Given the description of an element on the screen output the (x, y) to click on. 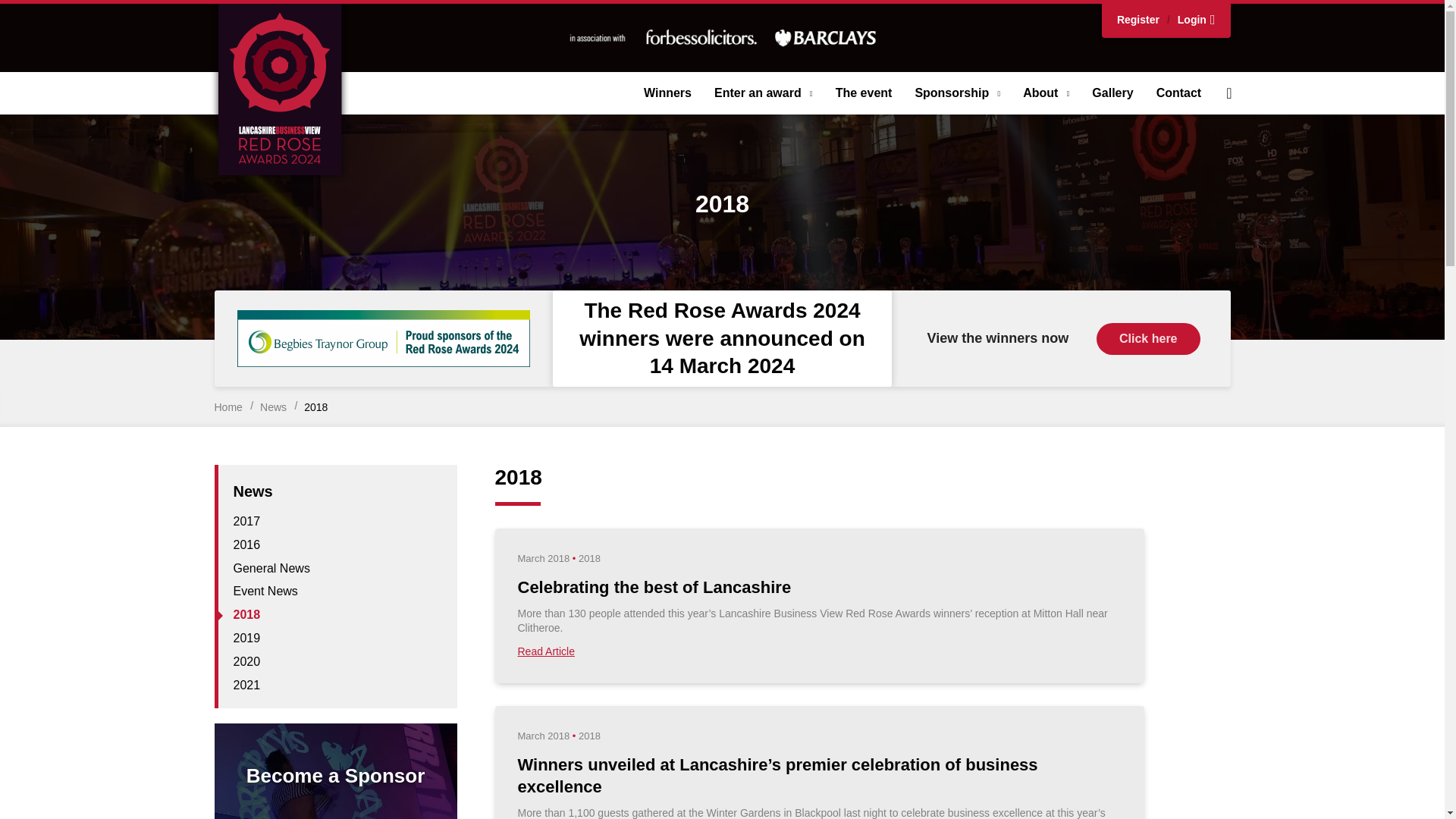
The event (864, 93)
Home (227, 407)
Click here (1147, 338)
More about sponsors (721, 37)
Winners (667, 93)
Contact (1178, 93)
About (1045, 93)
2016 (246, 544)
Gallery (1112, 93)
Enter an award (763, 93)
Sponsorship (956, 93)
Skip to Content (33, 11)
2017 (246, 521)
News (273, 407)
